Given the description of an element on the screen output the (x, y) to click on. 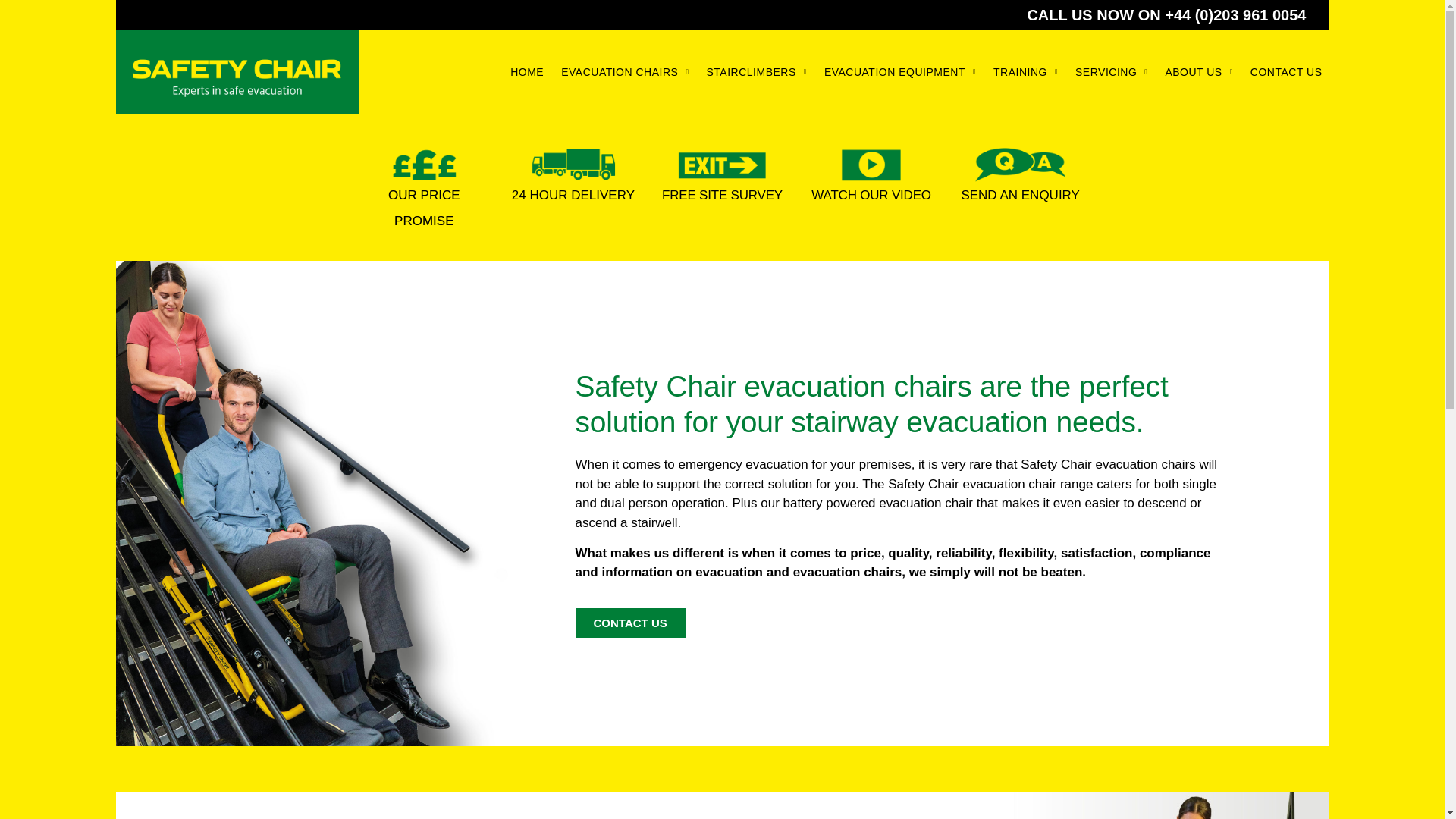
SERVICING (1111, 71)
HOME (526, 71)
CONTACT US (1286, 71)
EVACUATION CHAIRS (624, 71)
ABOUT US (1198, 71)
STAIRCLIMBERS (756, 71)
TRAINING (1025, 71)
EVACUATION EQUIPMENT (899, 71)
